Given the description of an element on the screen output the (x, y) to click on. 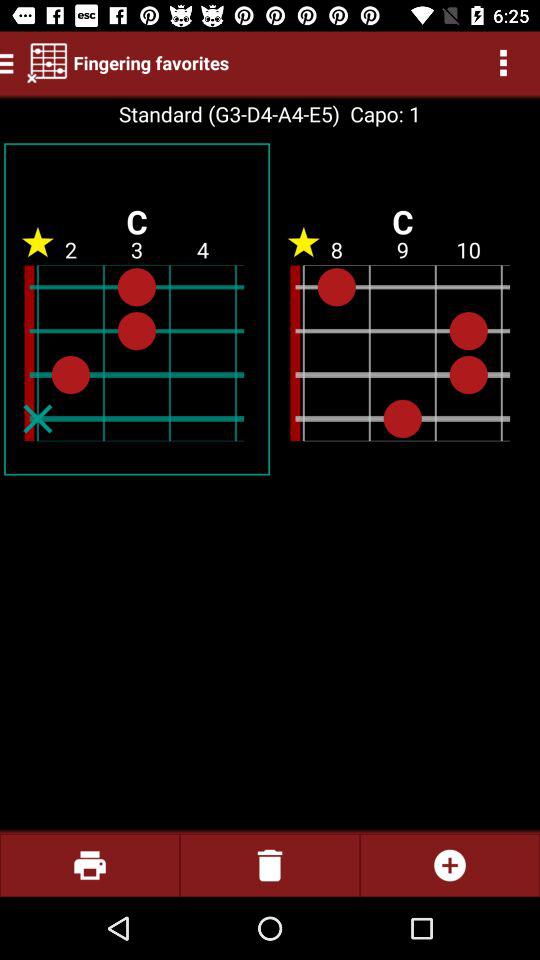
launch item next to standard g3 d4 icon (379, 113)
